Given the description of an element on the screen output the (x, y) to click on. 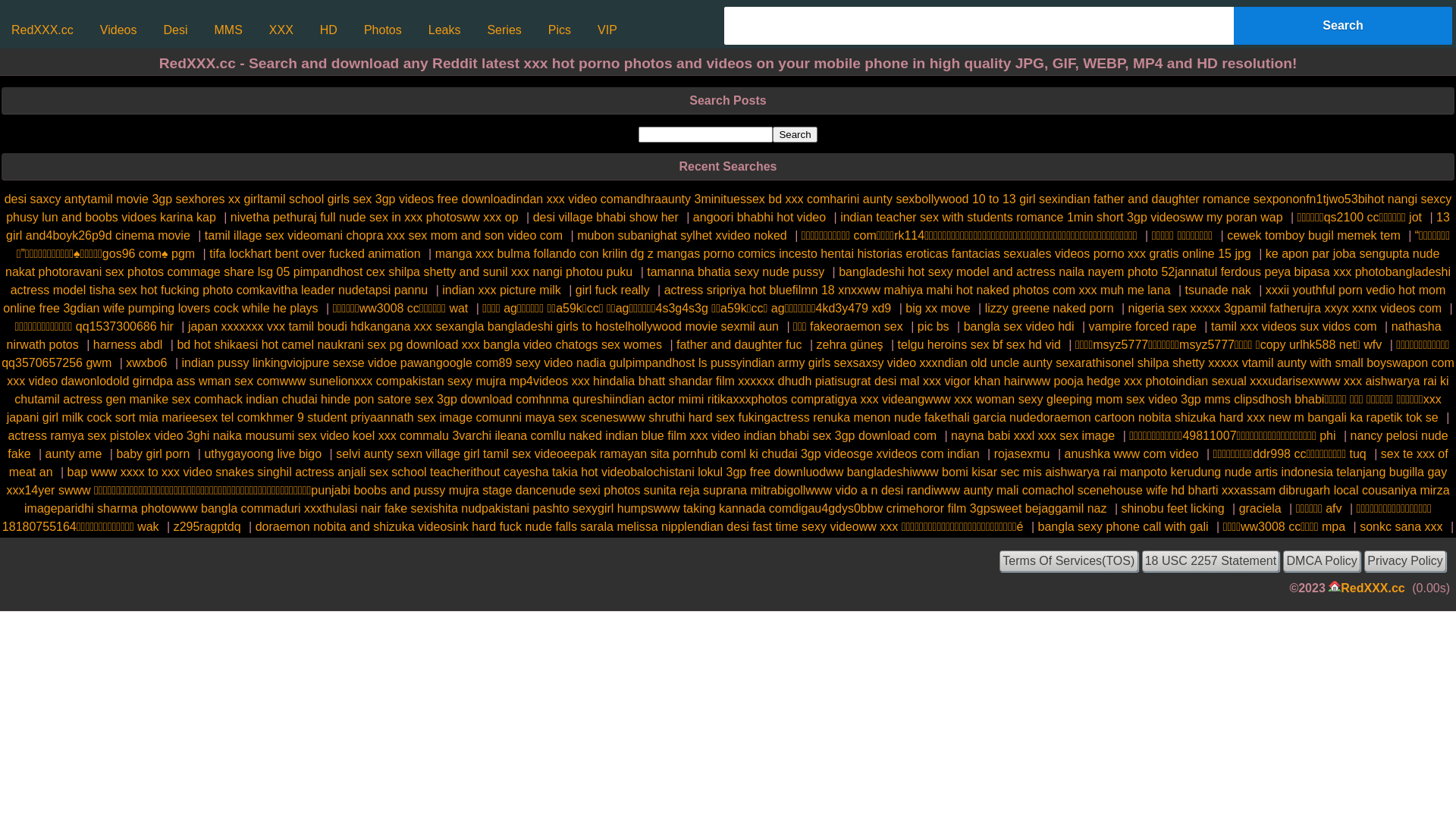
Videos Element type: text (118, 29)
Pics Element type: text (559, 29)
cewek tomboy bugil memek tem Element type: text (1313, 235)
bangla sexy phone call with gali Element type: text (1123, 526)
tifa lockhart bent over fucked animation Element type: text (314, 253)
nathasha nirwath potos Element type: text (723, 335)
RedXXX.cc Element type: text (1372, 588)
VIP Element type: text (606, 29)
shinobu feet licking Element type: text (1171, 508)
rojasexmu Element type: text (1022, 453)
18 USC 2257 Statement Element type: text (1211, 560)
graciela Element type: text (1260, 508)
nigeria sex xxxxx 3gpamil fatherujra xxyx xxnx videos com Element type: text (1285, 307)
nivetha pethuraj full nude sex in xxx photosww xxx op Element type: text (374, 216)
uthygayoong live bigo Element type: text (262, 453)
DMCA Policy Element type: text (1321, 560)
Search Element type: text (1342, 25)
girl fuck really Element type: text (612, 289)
nayna babi xxxl xxx sex image Element type: text (1032, 435)
nancy pelosi nude fake Element type: text (727, 444)
aunty ame Element type: text (73, 453)
XXX Element type: text (281, 29)
sonkc sana xxx Element type: text (1400, 526)
tamil xxx videos sux vidos com Element type: text (1294, 326)
HD Element type: text (328, 29)
baby girl porn Element type: text (152, 453)
anushka www com video Element type: text (1131, 453)
mubon subanighat sylhet xvideo noked Element type: text (682, 235)
RedXXX.cc Element type: text (42, 29)
pic bs Element type: text (933, 326)
angoori bhabhi hot video Element type: text (759, 216)
telgu heroins sex bf sex hd vid Element type: text (978, 344)
big xx move Element type: text (937, 307)
father and daughter fuc Element type: text (738, 344)
tsunade nak Element type: text (1218, 289)
Terms Of Services(TOS) Element type: text (1068, 560)
bangla sex video hdi Element type: text (1018, 326)
vampire forced rape Element type: text (1142, 326)
Search Element type: text (794, 134)
desi village bhabi show her Element type: text (605, 216)
Photos Element type: text (382, 29)
indian xxx picture milk Element type: text (501, 289)
z295ragptdq Element type: text (207, 526)
Privacy Policy Element type: text (1405, 560)
13 girl and4boyk26p9d cinema movie Element type: text (727, 225)
Series Element type: text (503, 29)
Leaks Element type: text (444, 29)
Desi Element type: text (174, 29)
sex te xxx of meat an Element type: text (728, 462)
harness abdl Element type: text (128, 344)
tamanna bhatia sexy nude pussy Element type: text (735, 271)
MMS Element type: text (227, 29)
lizzy greene naked porn Element type: text (1049, 307)
xwxbo6 Element type: text (145, 362)
